Given the description of an element on the screen output the (x, y) to click on. 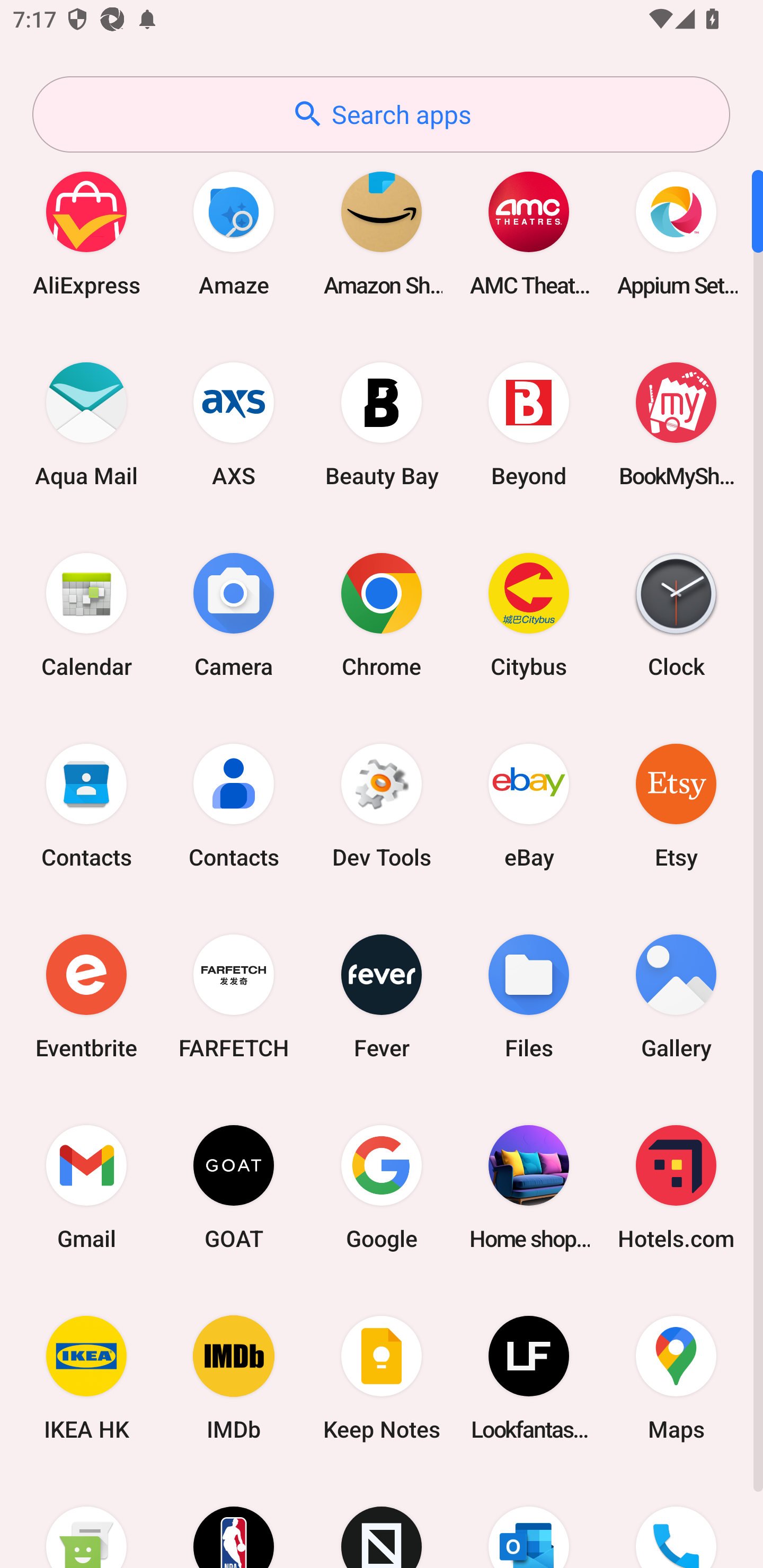
  Search apps (381, 114)
AliExpress (86, 233)
Amaze (233, 233)
Amazon Shopping (381, 233)
AMC Theatres (528, 233)
Appium Settings (676, 233)
Aqua Mail (86, 424)
AXS (233, 424)
Beauty Bay (381, 424)
Beyond (528, 424)
BookMyShow (676, 424)
Calendar (86, 614)
Camera (233, 614)
Chrome (381, 614)
Citybus (528, 614)
Clock (676, 614)
Contacts (86, 805)
Contacts (233, 805)
Dev Tools (381, 805)
eBay (528, 805)
Etsy (676, 805)
Eventbrite (86, 996)
FARFETCH (233, 996)
Fever (381, 996)
Files (528, 996)
Gallery (676, 996)
Gmail (86, 1186)
GOAT (233, 1186)
Google (381, 1186)
Home shopping (528, 1186)
Hotels.com (676, 1186)
IKEA HK (86, 1377)
IMDb (233, 1377)
Keep Notes (381, 1377)
Lookfantastic (528, 1377)
Maps (676, 1377)
